Given the description of an element on the screen output the (x, y) to click on. 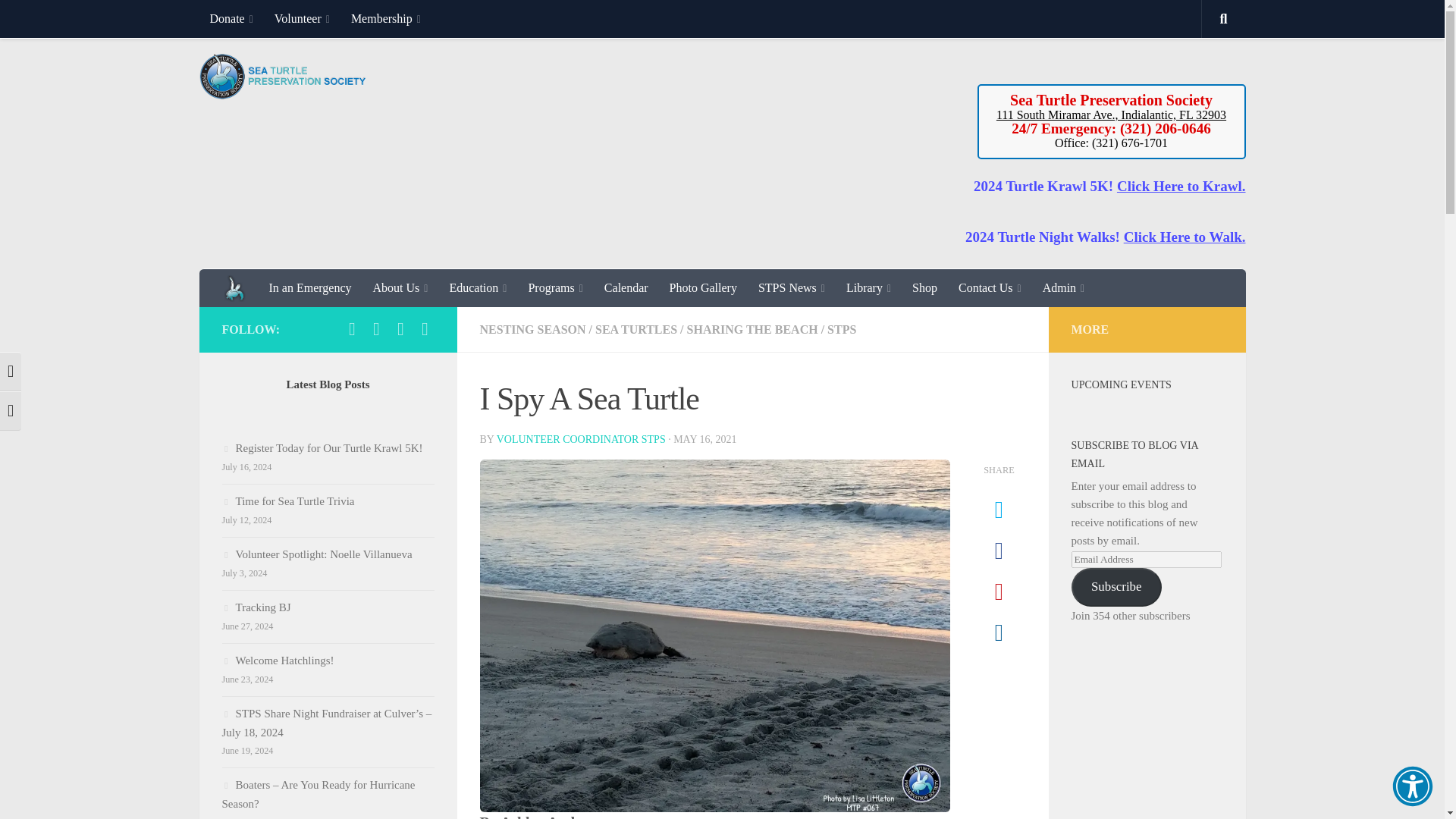
Click Here to Krawl. (1181, 186)
Membership (385, 18)
Donate (230, 18)
About Us (400, 288)
Home (235, 288)
111 South Miramar Ave., Indialantic, FL 32903 (1110, 114)
In an Emergency (309, 288)
Toggle High Contrast (10, 371)
Volunteer (301, 18)
Click Here to Walk. (1185, 236)
Skip to content (59, 20)
Toggle Font size (10, 410)
